Given the description of an element on the screen output the (x, y) to click on. 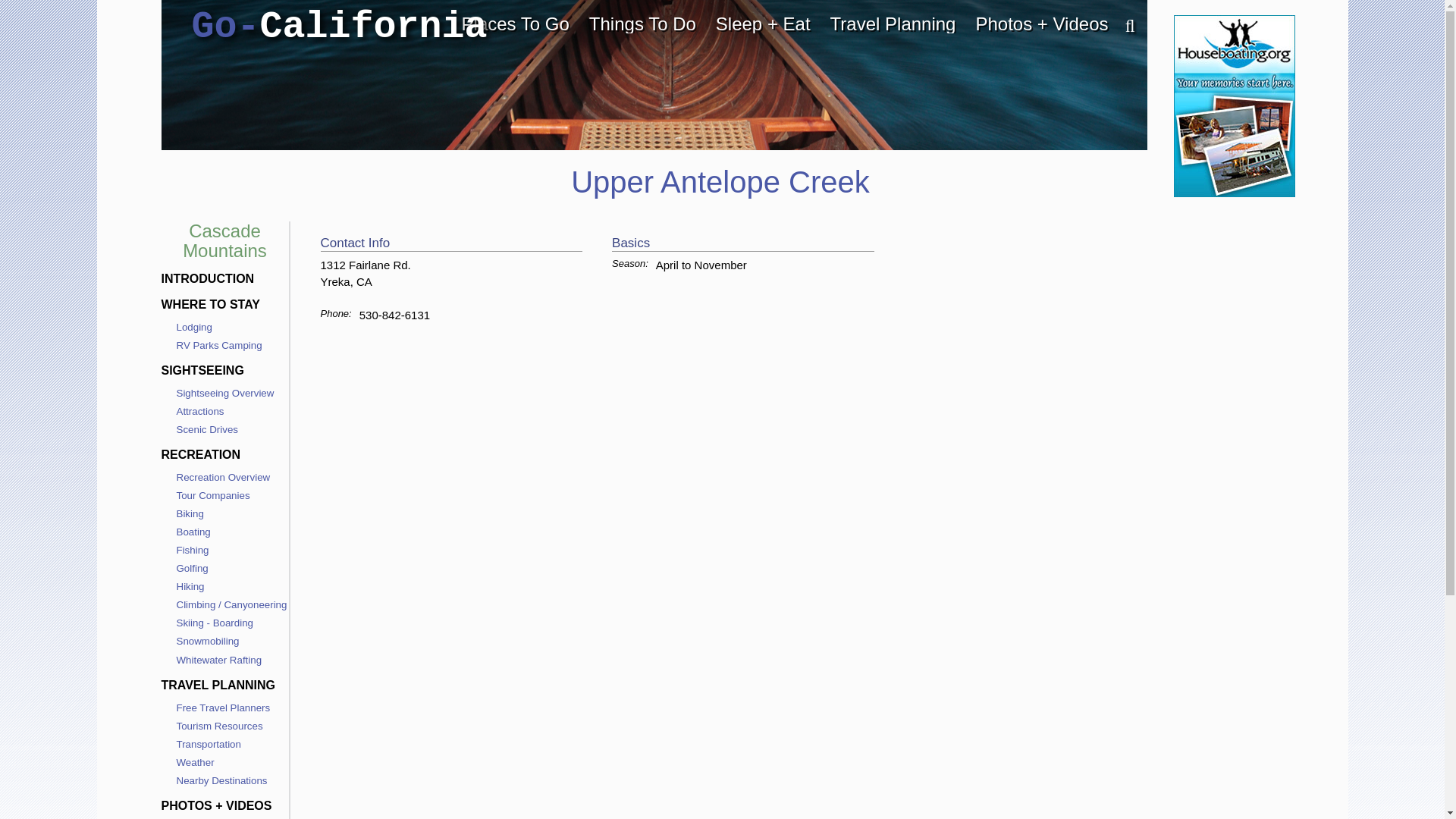
Go-California (338, 27)
Cascade Mountains Tourism Info (224, 240)
Search Here (1122, 26)
go-california.com (338, 27)
Things To Do (643, 24)
Search Here (1122, 26)
Places To Go (515, 24)
